Given the description of an element on the screen output the (x, y) to click on. 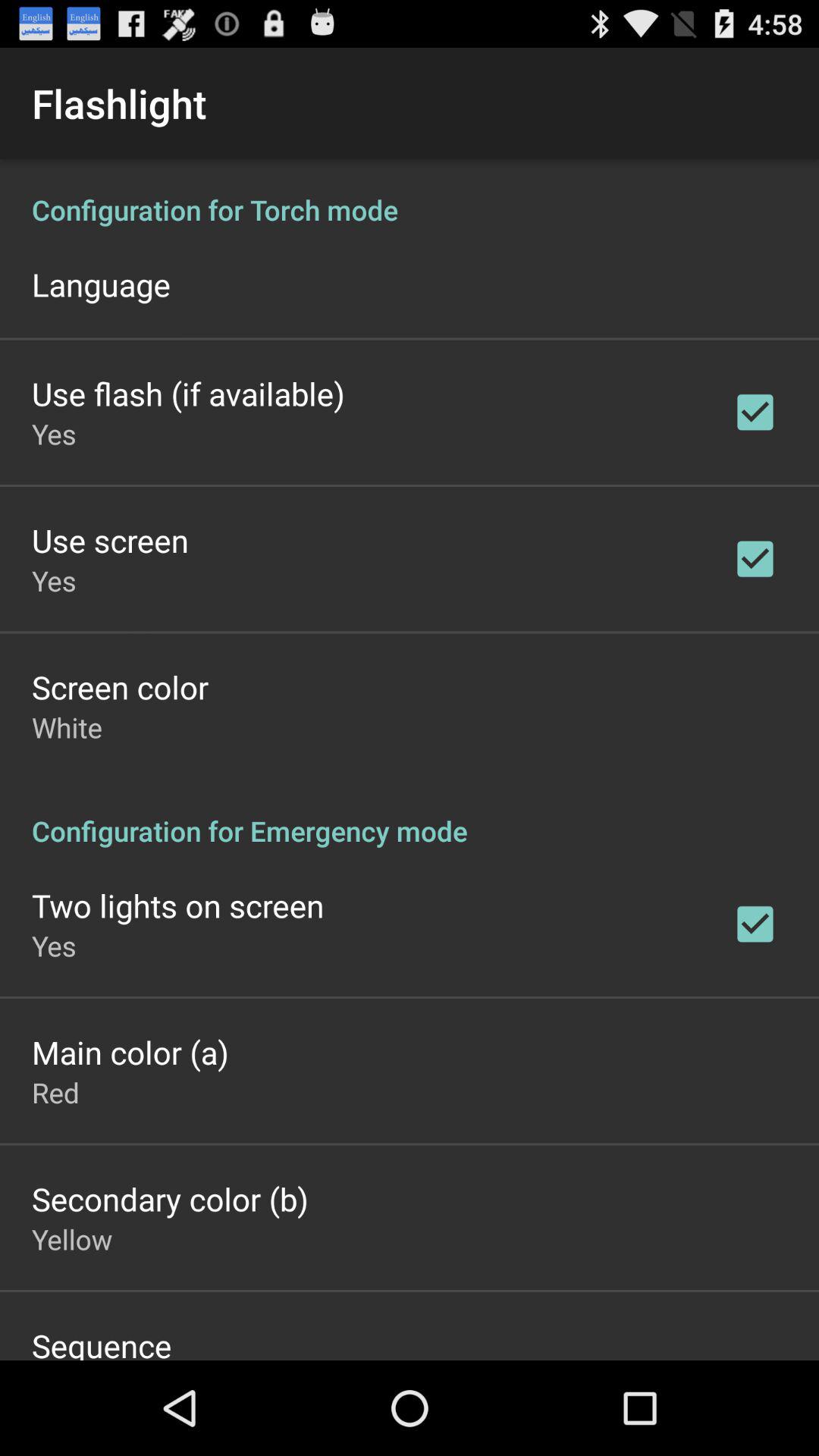
select the icon below the flashlight (409, 759)
